Given the description of an element on the screen output the (x, y) to click on. 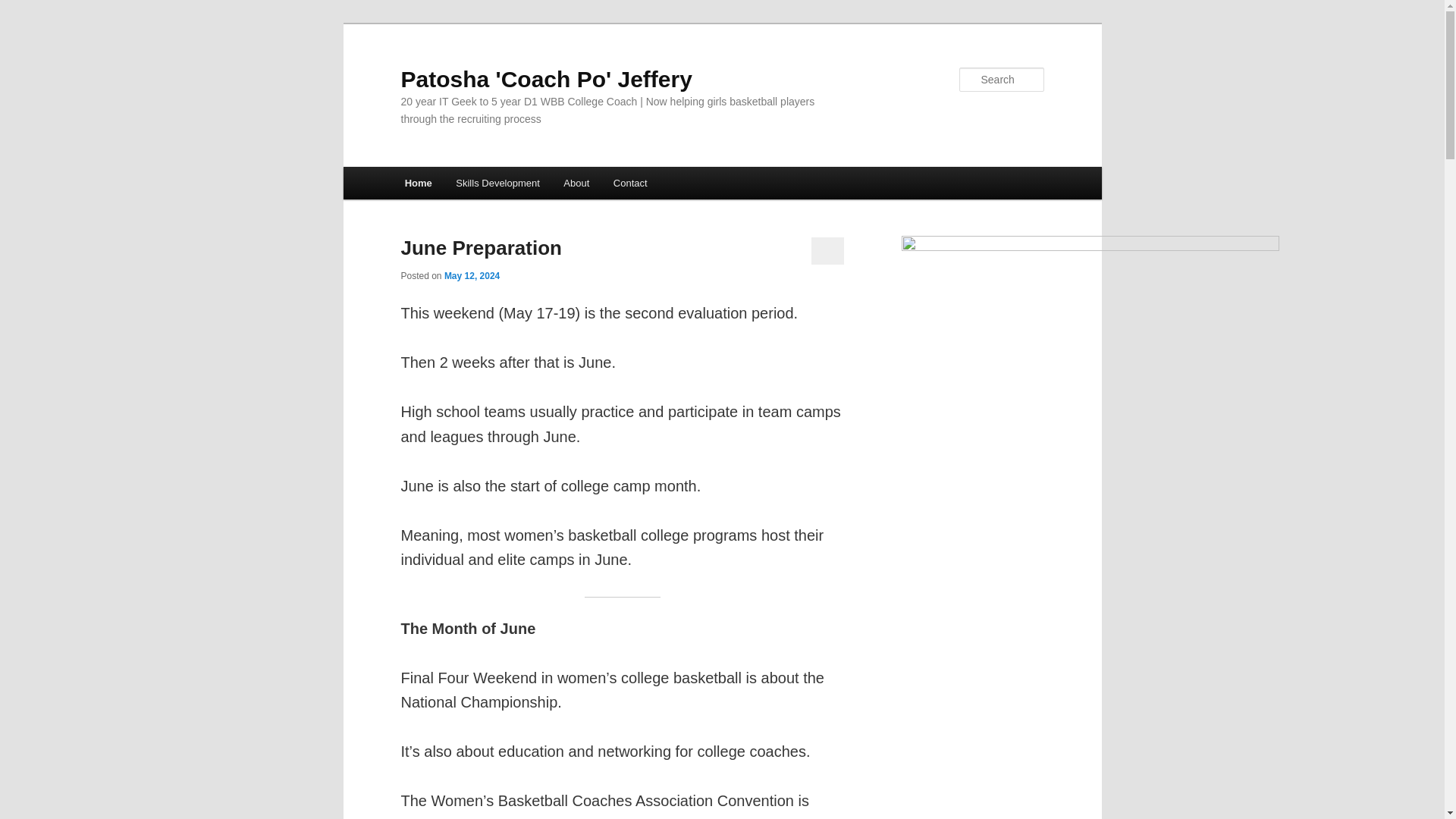
May 12, 2024 (471, 276)
Search (24, 8)
Skills Development (497, 183)
Patosha 'Coach Po' Jeffery (545, 78)
Contact (630, 183)
June Preparation (480, 247)
Home (418, 183)
About (576, 183)
8:27 pm (471, 276)
